Given the description of an element on the screen output the (x, y) to click on. 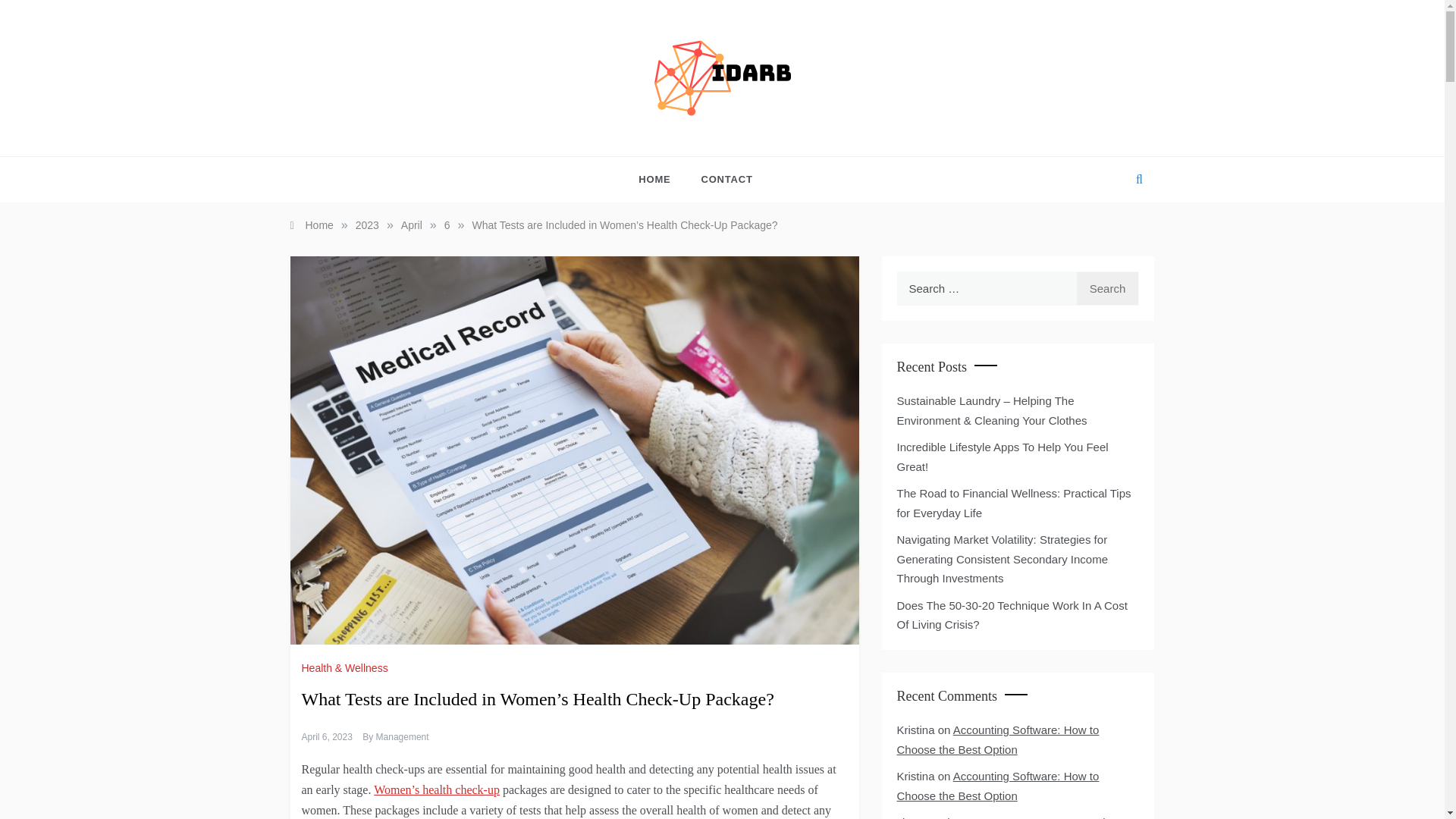
Management (402, 737)
Incredible Lifestyle Apps To Help You Feel Great! (1002, 456)
Does The 50-30-20 Technique Work In A Cost Of Living Crisis? (1011, 614)
Home (311, 224)
Search (1107, 288)
April (411, 224)
CONTACT (718, 179)
Search (1107, 288)
Search (1107, 288)
2023 (366, 224)
April 6, 2023 (326, 737)
IDARB (608, 131)
HOME (662, 179)
